Given the description of an element on the screen output the (x, y) to click on. 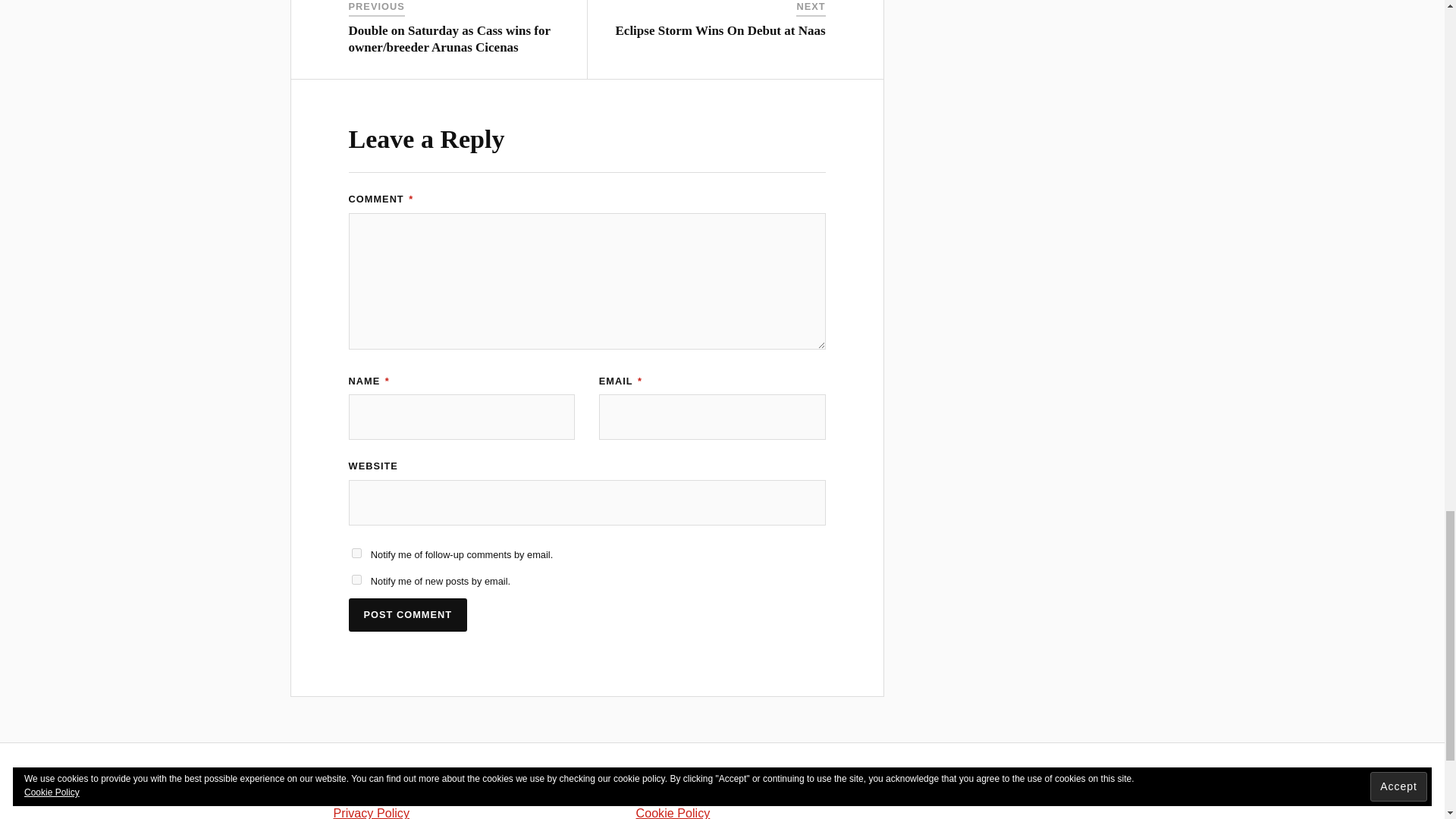
Post Comment (408, 615)
subscribe (356, 579)
Post Comment (408, 615)
Eclipse Storm Wins On Debut at Naas (720, 30)
subscribe (356, 552)
